Given the description of an element on the screen output the (x, y) to click on. 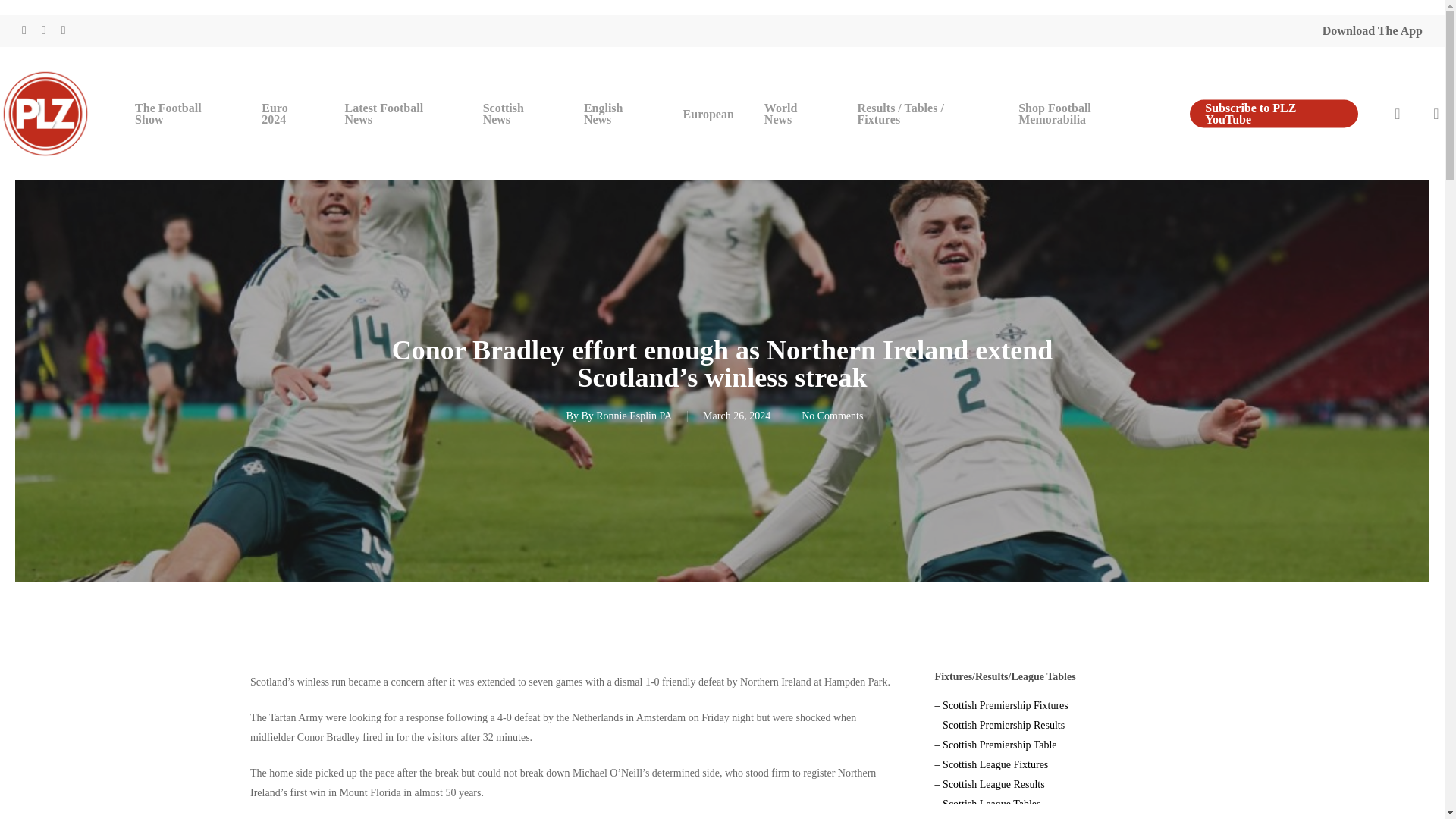
Posts by By Ronnie Esplin PA (625, 415)
Shop Football Memorabilia (1088, 113)
The Football Show (182, 113)
Scottish News (518, 113)
Download The App (1372, 30)
World News (796, 113)
Euro 2024 (287, 113)
European (708, 112)
Latest Football News (398, 113)
English News (618, 113)
